Given the description of an element on the screen output the (x, y) to click on. 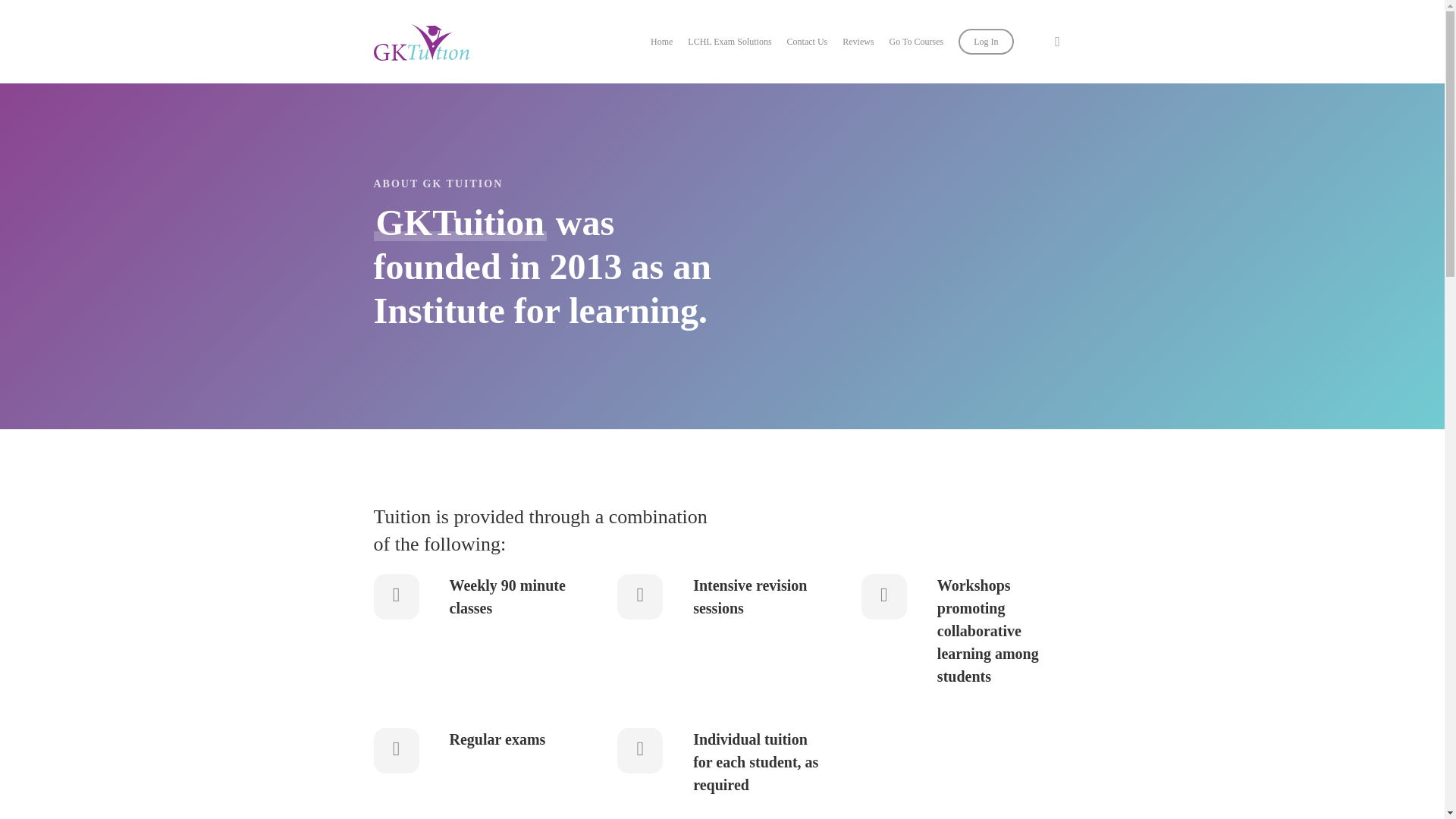
Go To Courses (916, 41)
Contact Us (807, 41)
Log In (985, 41)
LCHL Exam Solutions (729, 41)
Reviews (858, 41)
Home (661, 41)
